Given the description of an element on the screen output the (x, y) to click on. 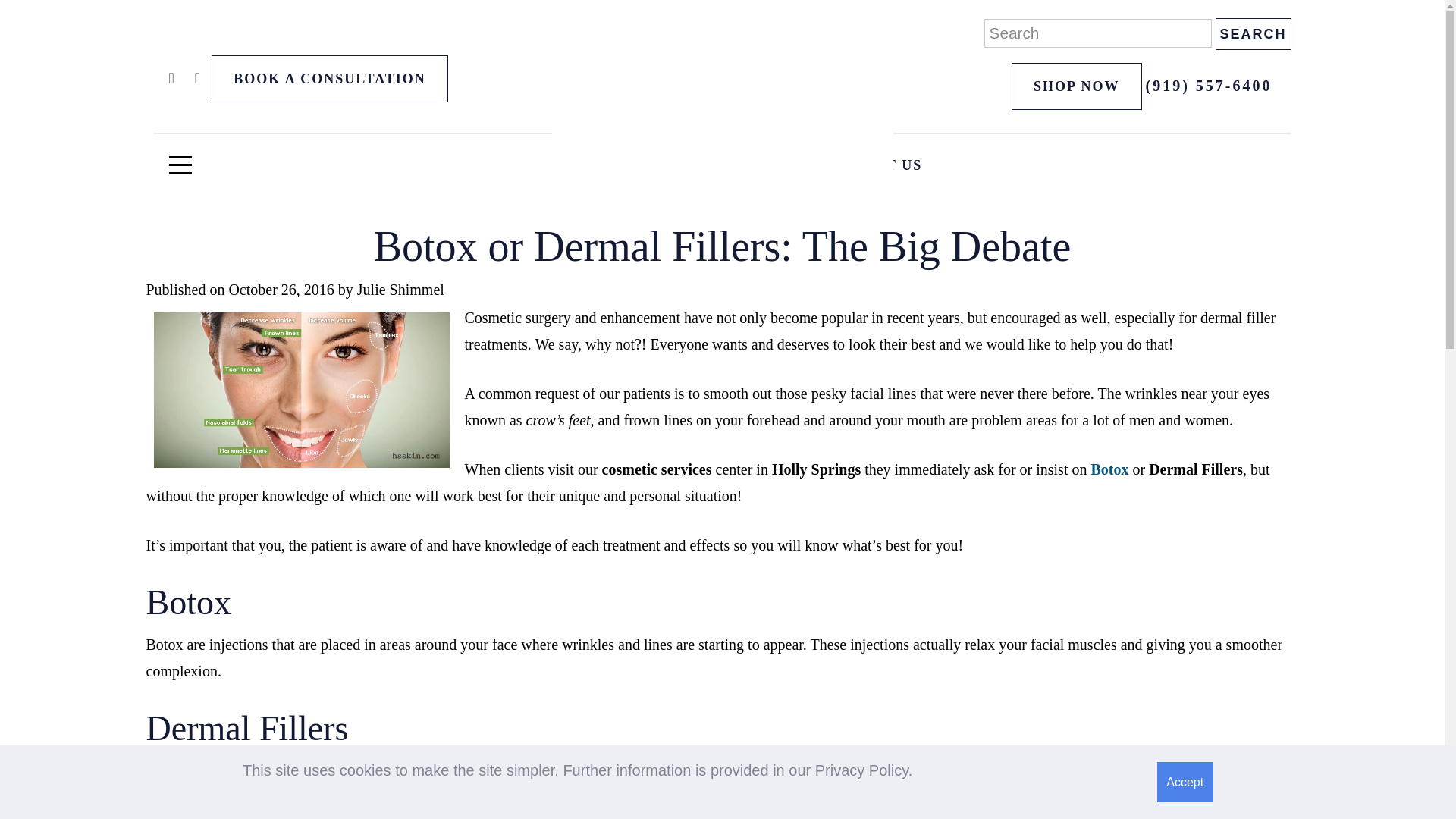
Search (1252, 33)
ABOUT US (724, 165)
RESULTS (595, 165)
BOOK A CONSULTATION (329, 78)
Botox Injections Holly Springs (1109, 469)
CONTACT US (870, 165)
Search (1252, 33)
SHOP NOW (1076, 86)
